Given the description of an element on the screen output the (x, y) to click on. 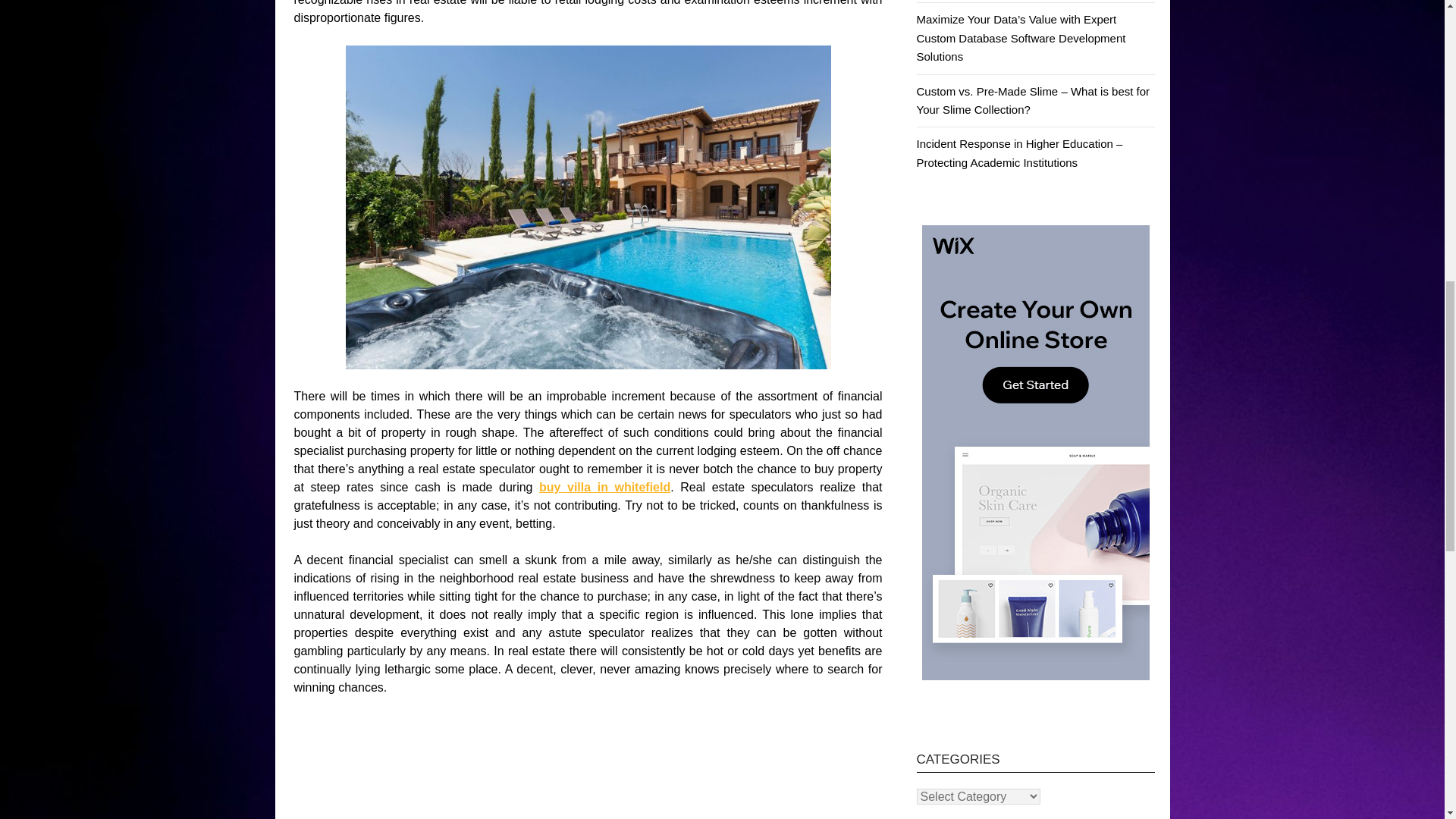
buy villa in whitefield (603, 486)
